Given the description of an element on the screen output the (x, y) to click on. 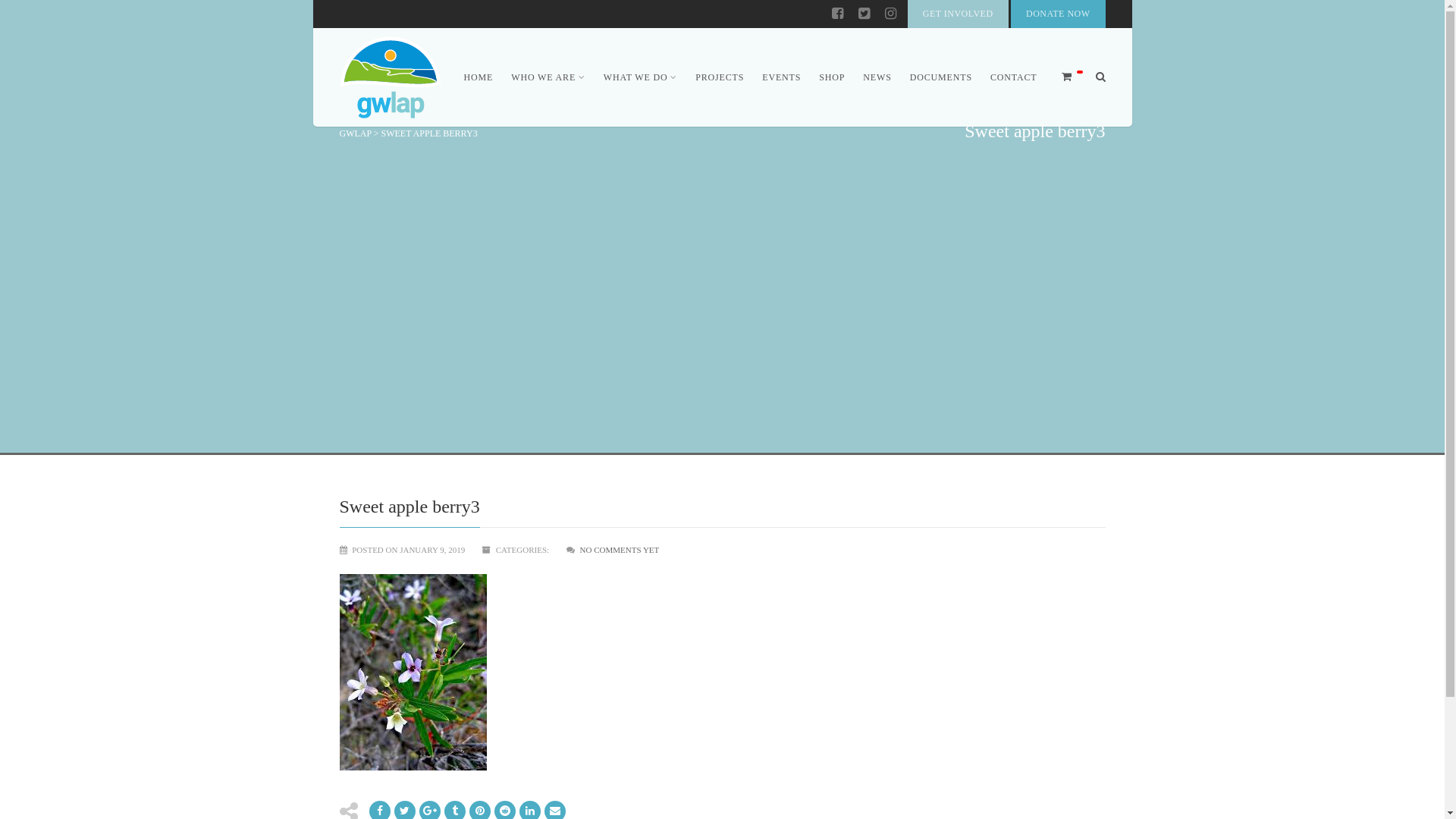
WHO WE ARE Element type: text (548, 77)
DONATE NOW Element type: text (1057, 14)
CONTACT Element type: text (1009, 77)
WHAT WE DO Element type: text (640, 77)
EVENTS Element type: text (781, 77)
NO COMMENTS YET Element type: text (619, 549)
HOME Element type: text (478, 77)
GET INVOLVED Element type: text (957, 14)
GWLAP Element type: hover (389, 77)
GWLAP Element type: text (355, 133)
SHOP Element type: text (831, 77)
PROJECTS Element type: text (719, 77)
NEWS Element type: text (876, 77)
DOCUMENTS Element type: text (940, 77)
